Given the description of an element on the screen output the (x, y) to click on. 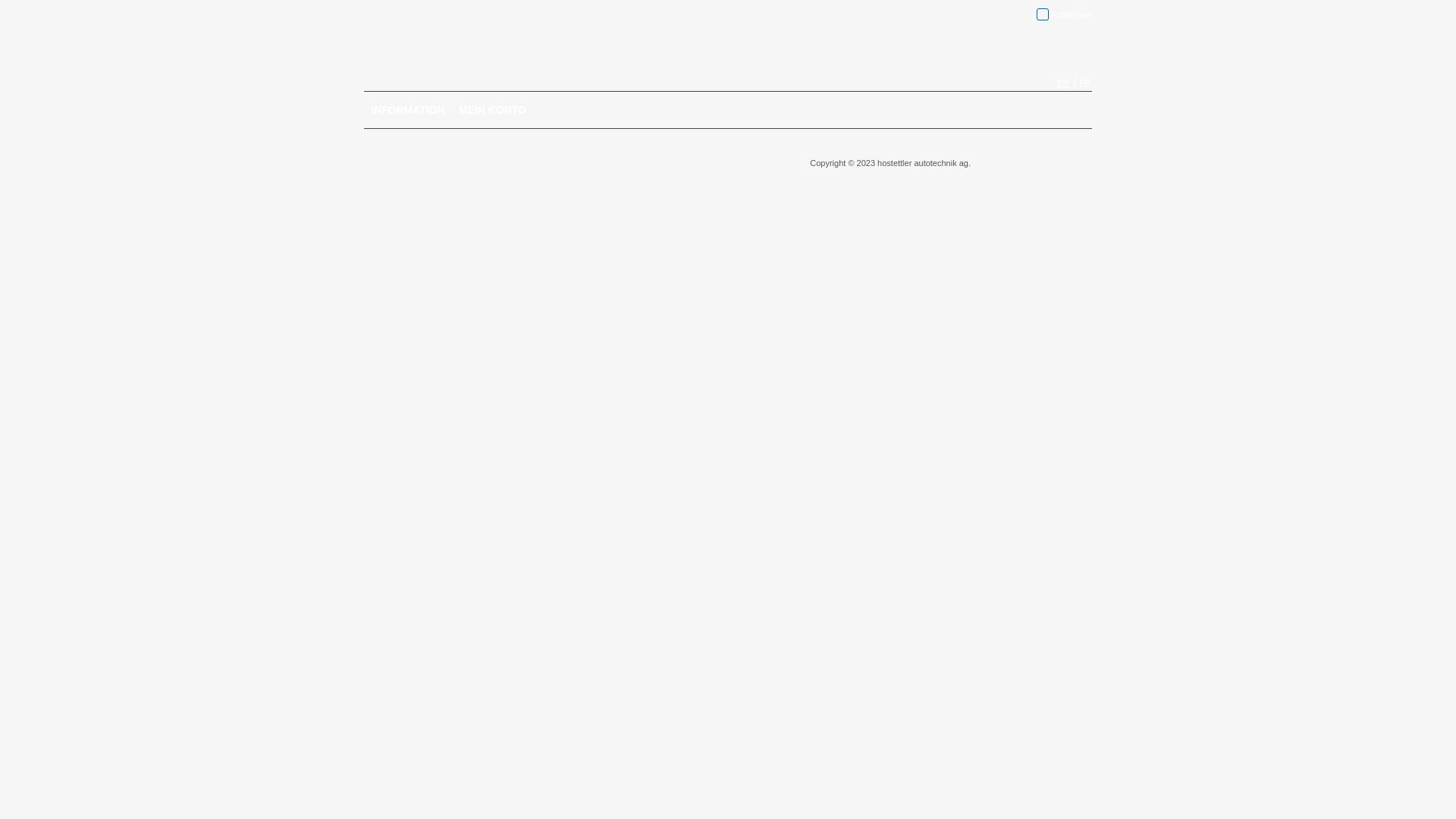
MEIN KONTO Element type: text (492, 109)
 Anmelden Element type: text (1064, 14)
INFORMATION Element type: text (407, 109)
DE Element type: text (1063, 83)
FR Element type: text (1085, 83)
